Given the description of an element on the screen output the (x, y) to click on. 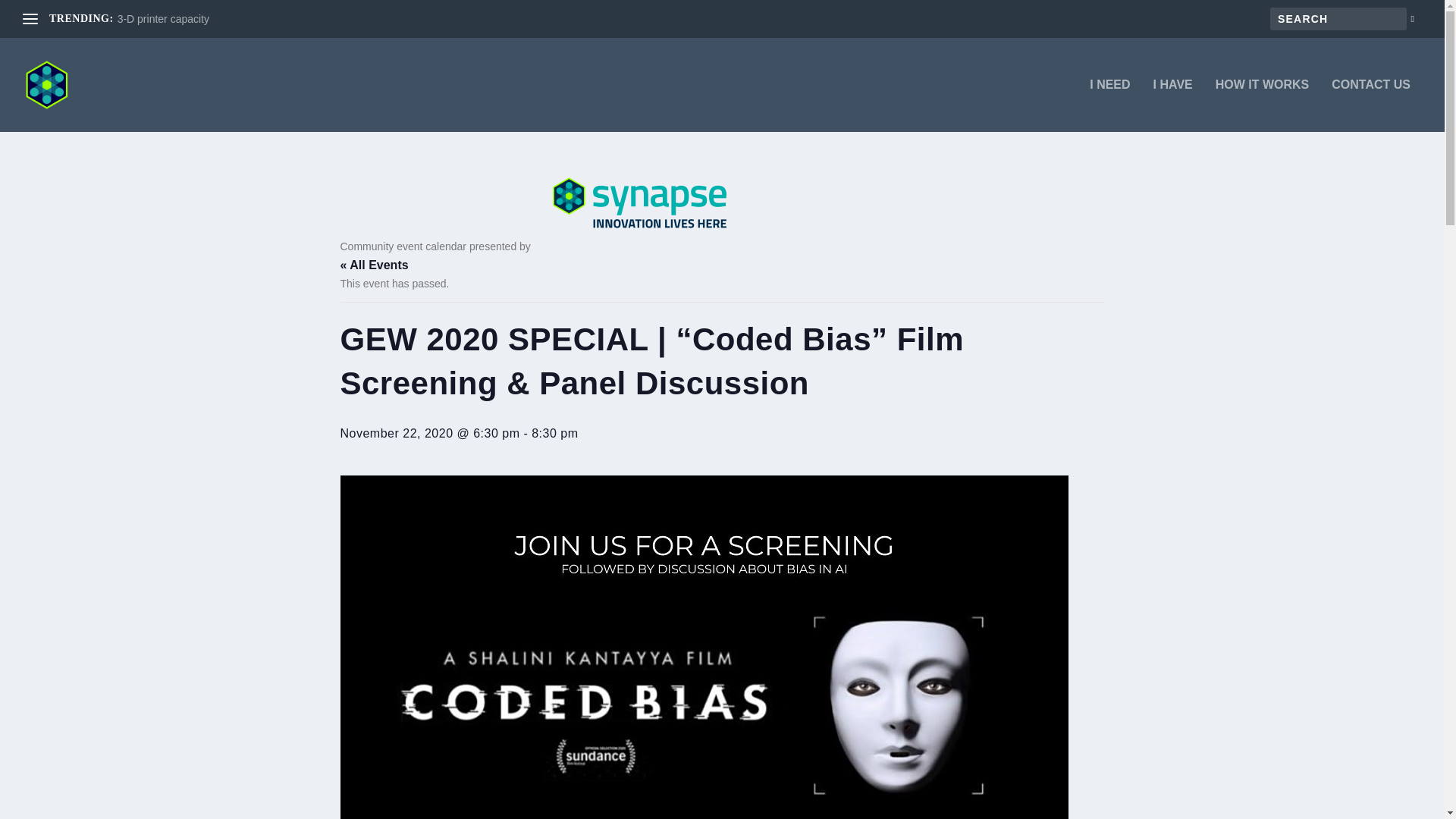
HOW IT WORKS (1261, 104)
3-D printer capacity (163, 19)
CONTACT US (1371, 104)
Search for: (1337, 18)
